Given the description of an element on the screen output the (x, y) to click on. 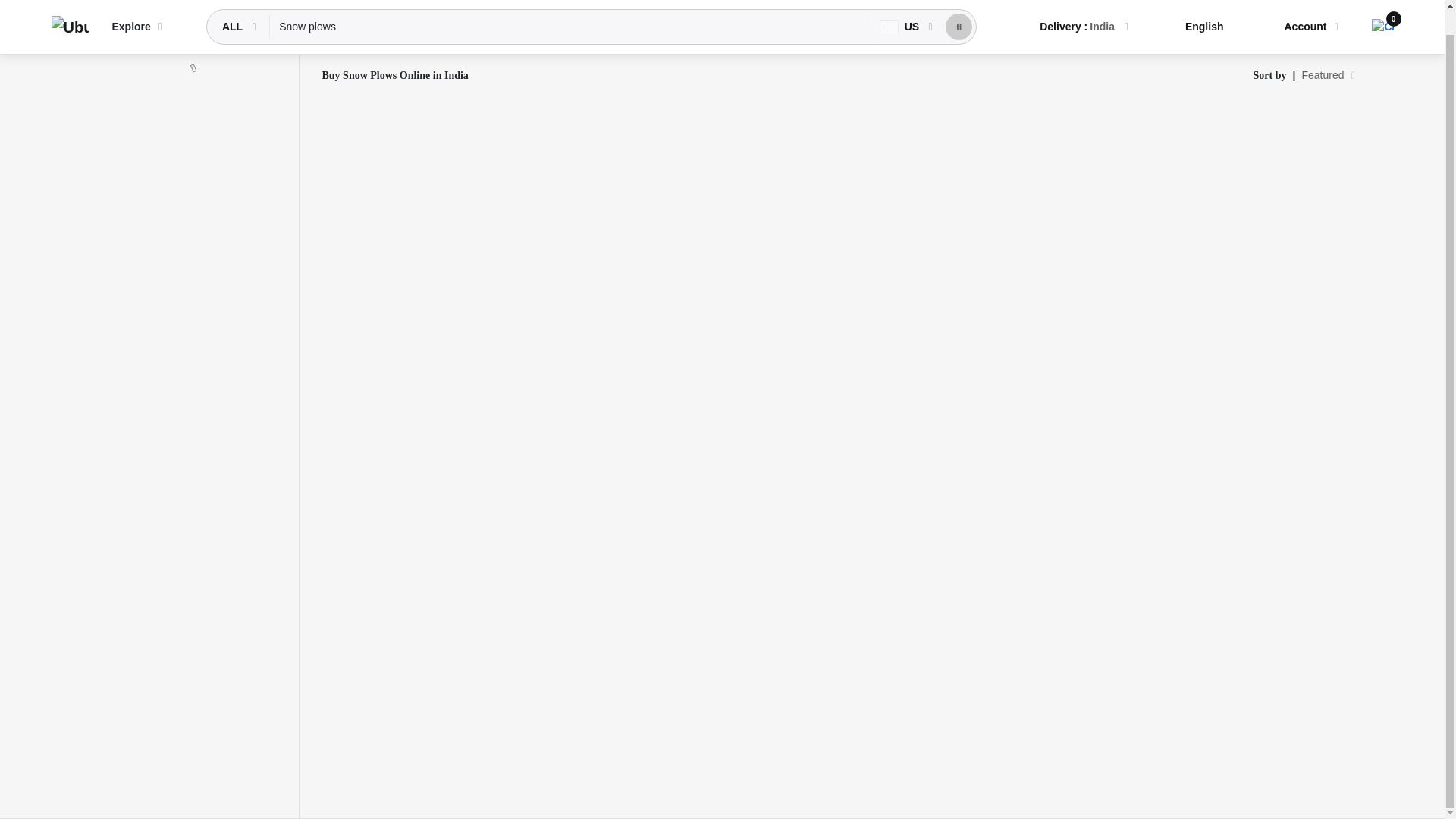
Ubuy (69, 9)
ALL (234, 7)
US (900, 7)
Snow plows (568, 7)
0 (1382, 5)
